Given the description of an element on the screen output the (x, y) to click on. 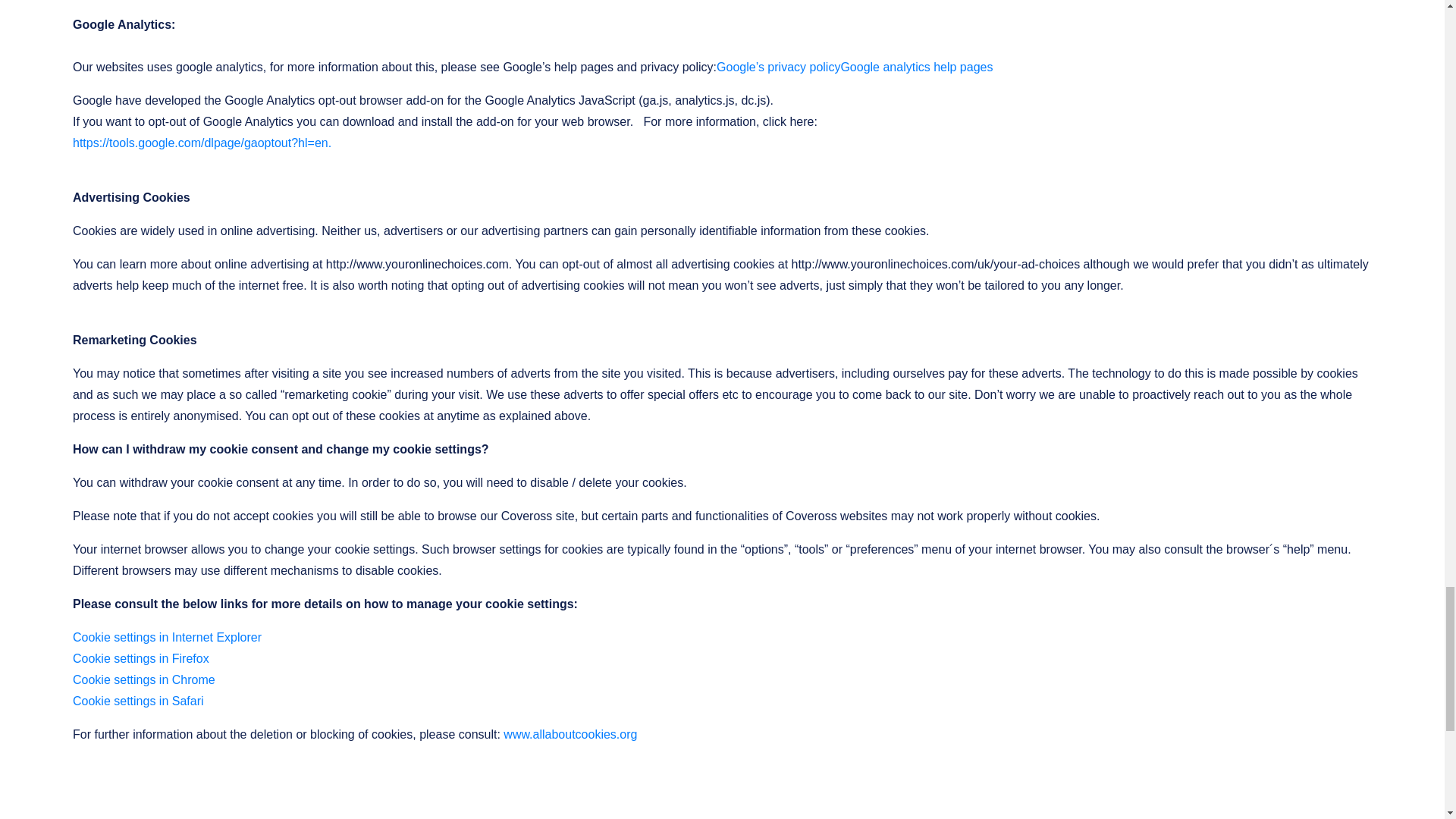
Cookie settings in Safari (137, 700)
Google analytics help pages (916, 66)
Cookie settings in Chrome (143, 679)
Cookie settings in Internet Explorer (167, 636)
www.allaboutcookies.org (570, 734)
Cookie settings in Firefox (140, 658)
